Given the description of an element on the screen output the (x, y) to click on. 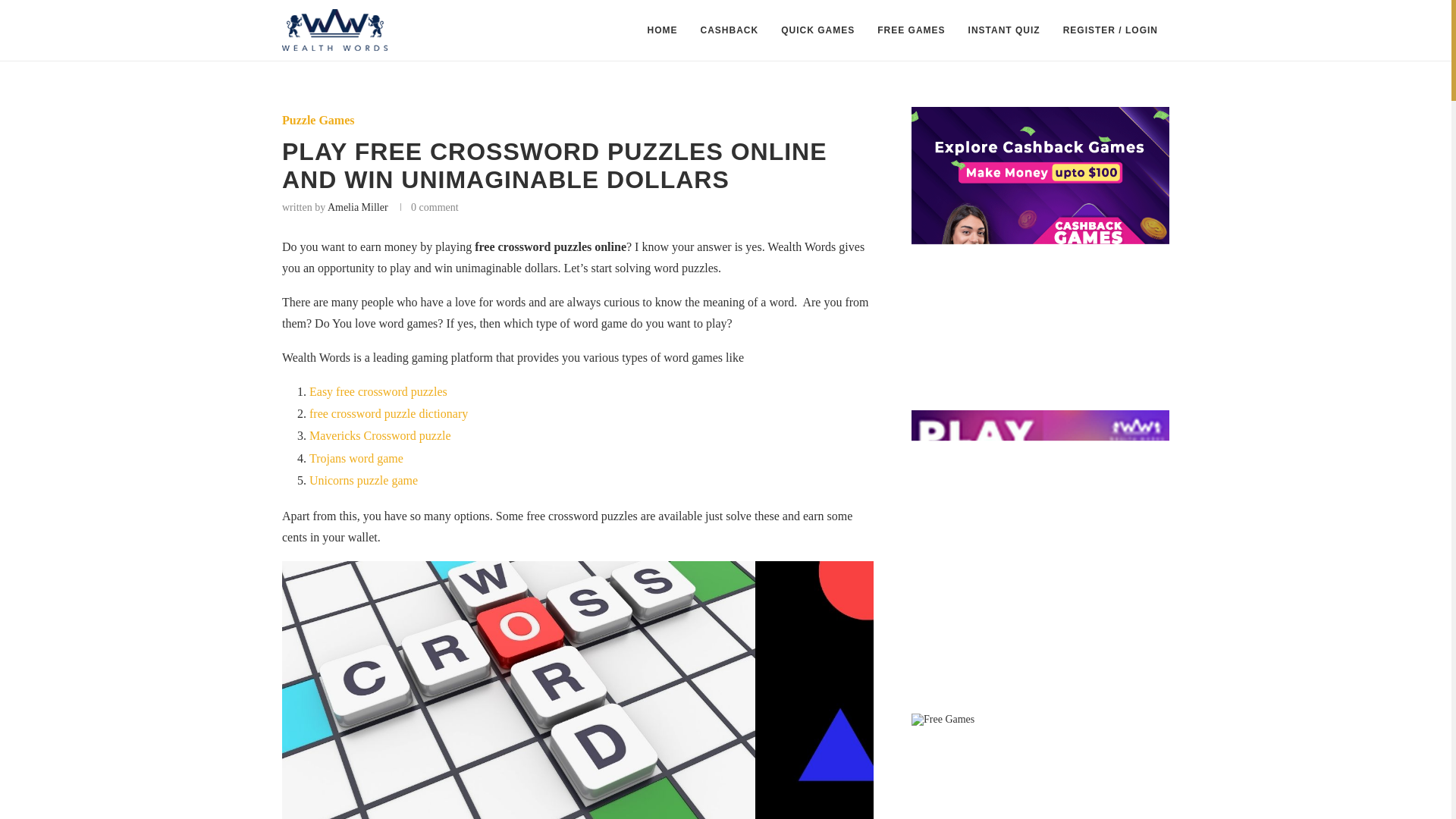
Easy free crossword puzzles (377, 391)
free crossword puzzle dictionary (387, 413)
Unicorns puzzle game (362, 480)
QUICK GAMES (818, 30)
CASHBACK (729, 30)
Puzzle Games (318, 120)
FREE GAMES (911, 30)
HOME (662, 30)
Mavericks Crossword puzzle (379, 435)
Amelia Miller (357, 206)
INSTANT QUIZ (1003, 30)
Trojans word game (355, 458)
